Given the description of an element on the screen output the (x, y) to click on. 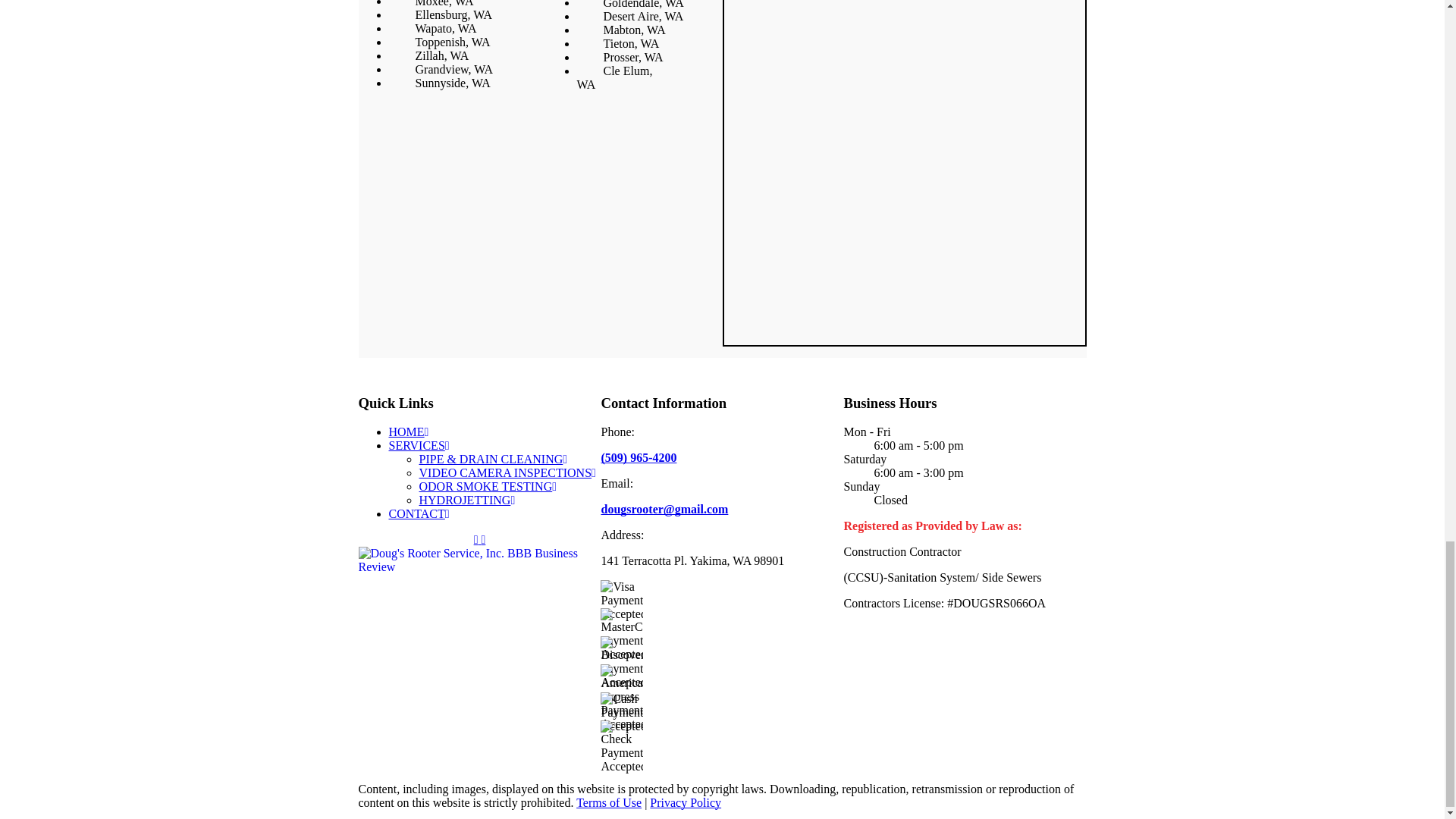
VIDEO CAMERA INSPECTIONS (507, 472)
SERVICES (418, 445)
HYDROJETTING (467, 499)
CONTACT (418, 513)
ODOR SMOKE TESTING (487, 486)
HOME (408, 431)
Terms of Use (609, 802)
Privacy Policy (684, 802)
